Given the description of an element on the screen output the (x, y) to click on. 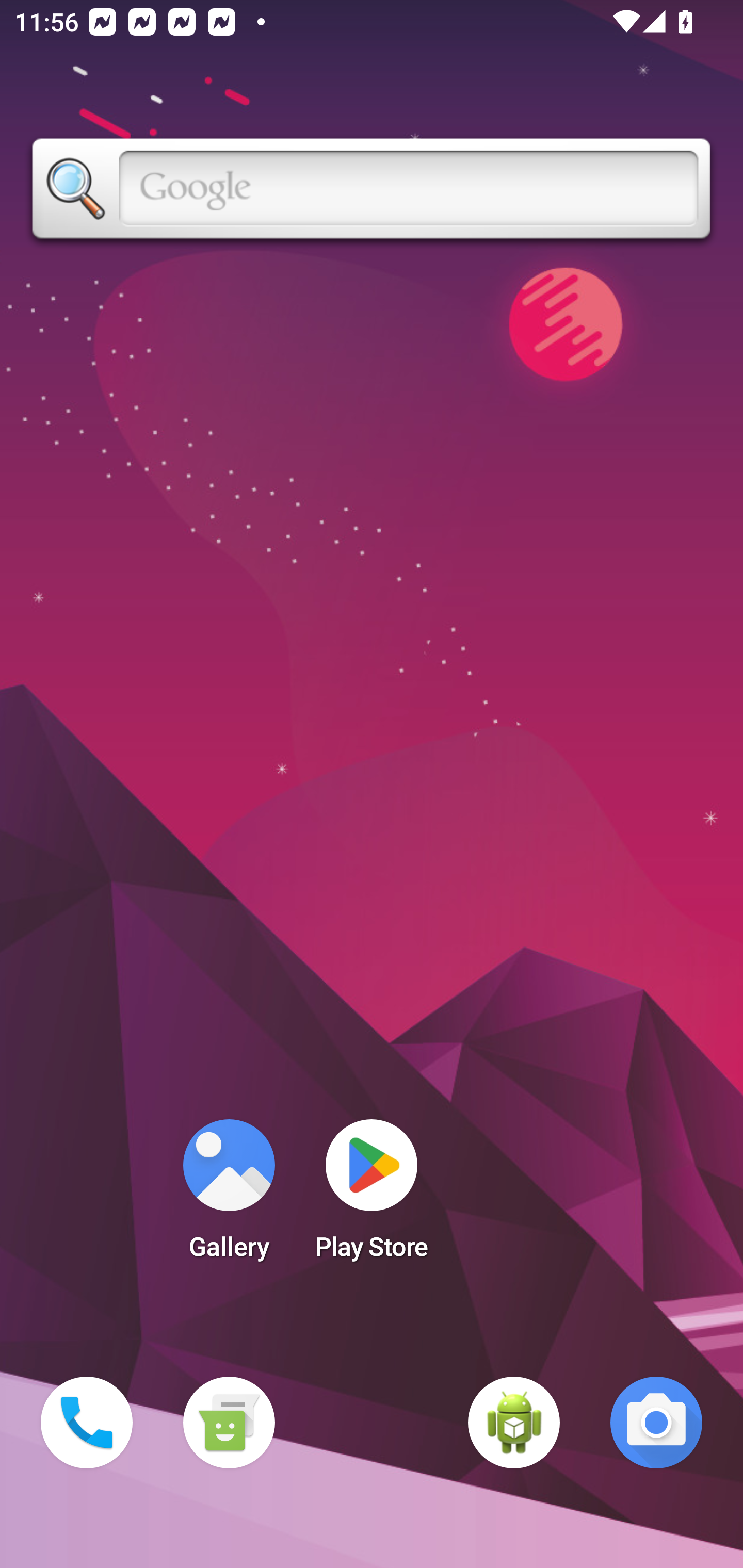
Gallery (228, 1195)
Play Store (371, 1195)
Phone (86, 1422)
Messaging (228, 1422)
WebView Browser Tester (513, 1422)
Camera (656, 1422)
